Given the description of an element on the screen output the (x, y) to click on. 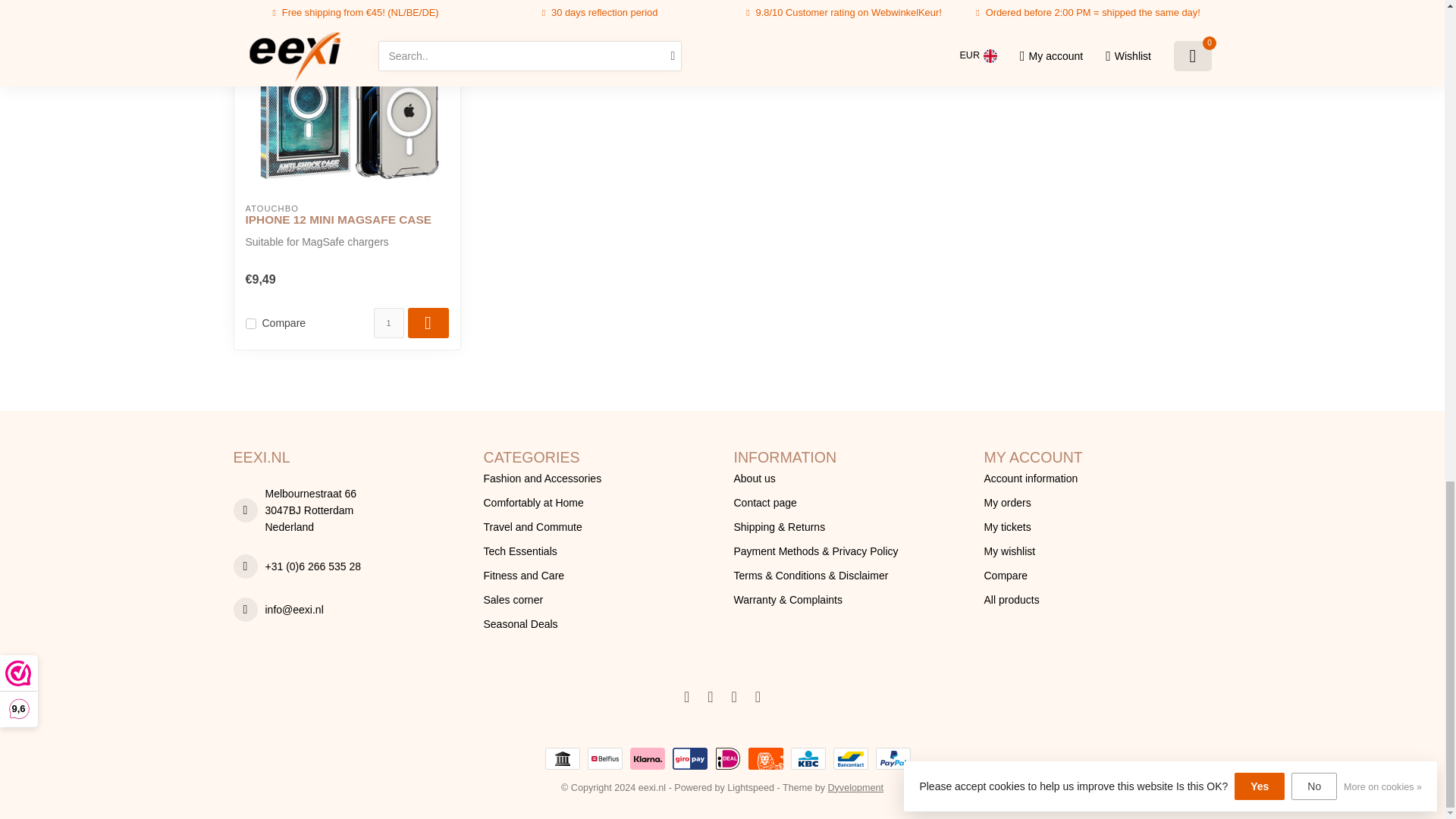
Account information (1097, 478)
1 (387, 322)
Contact page (846, 502)
Atouchbo iPhone 12 Mini MagSafe case (347, 219)
About us (846, 478)
My orders (1097, 502)
Atouchbo iPhone 12 Mini MagSafe case (347, 96)
